Given the description of an element on the screen output the (x, y) to click on. 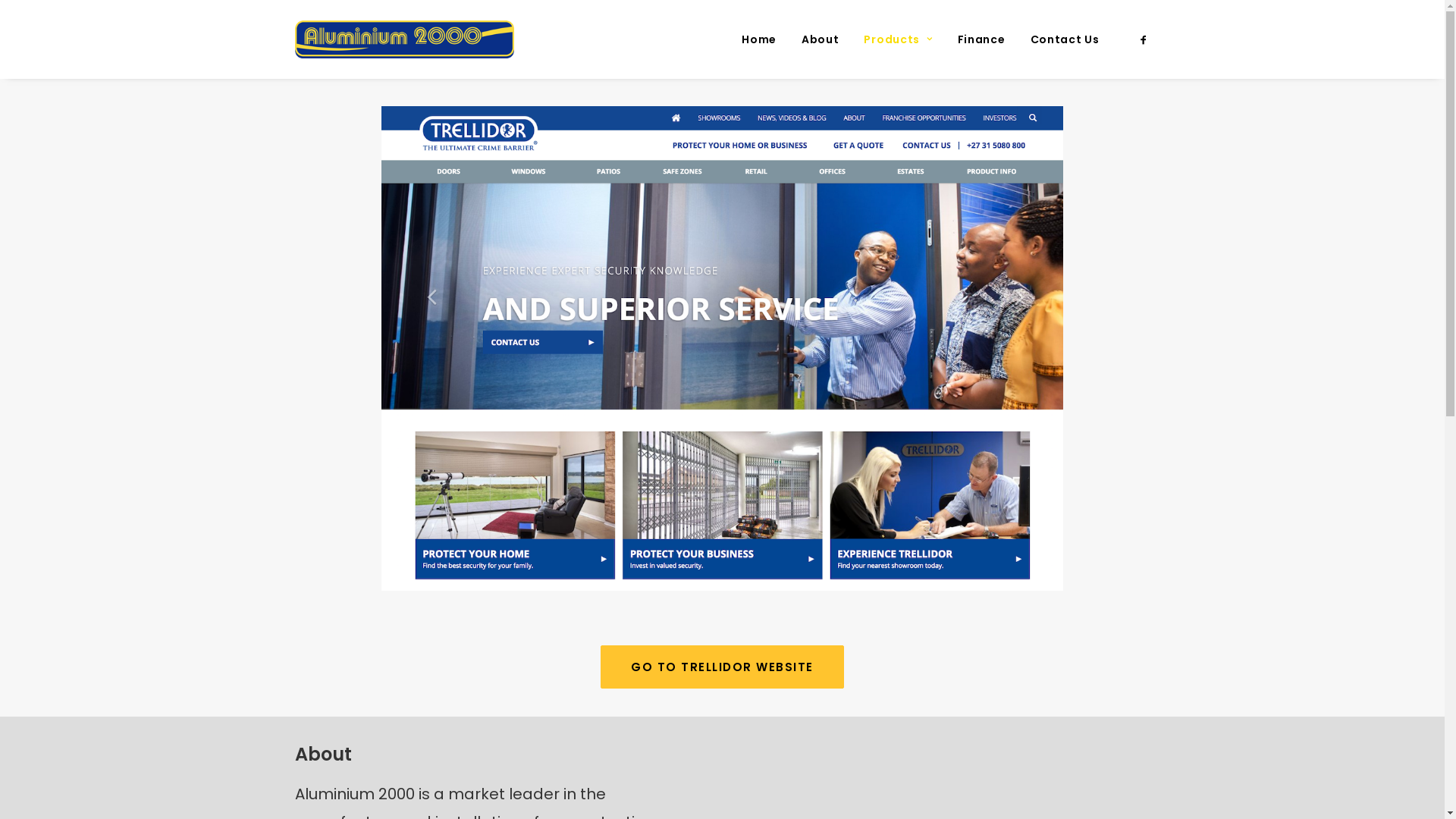
Home Element type: text (759, 39)
Finance Element type: text (981, 39)
Contact Us Element type: text (1058, 39)
Products Element type: text (897, 39)
GO TO TRELLIDOR WEBSITE Element type: text (722, 666)
About Element type: text (820, 39)
